Given the description of an element on the screen output the (x, y) to click on. 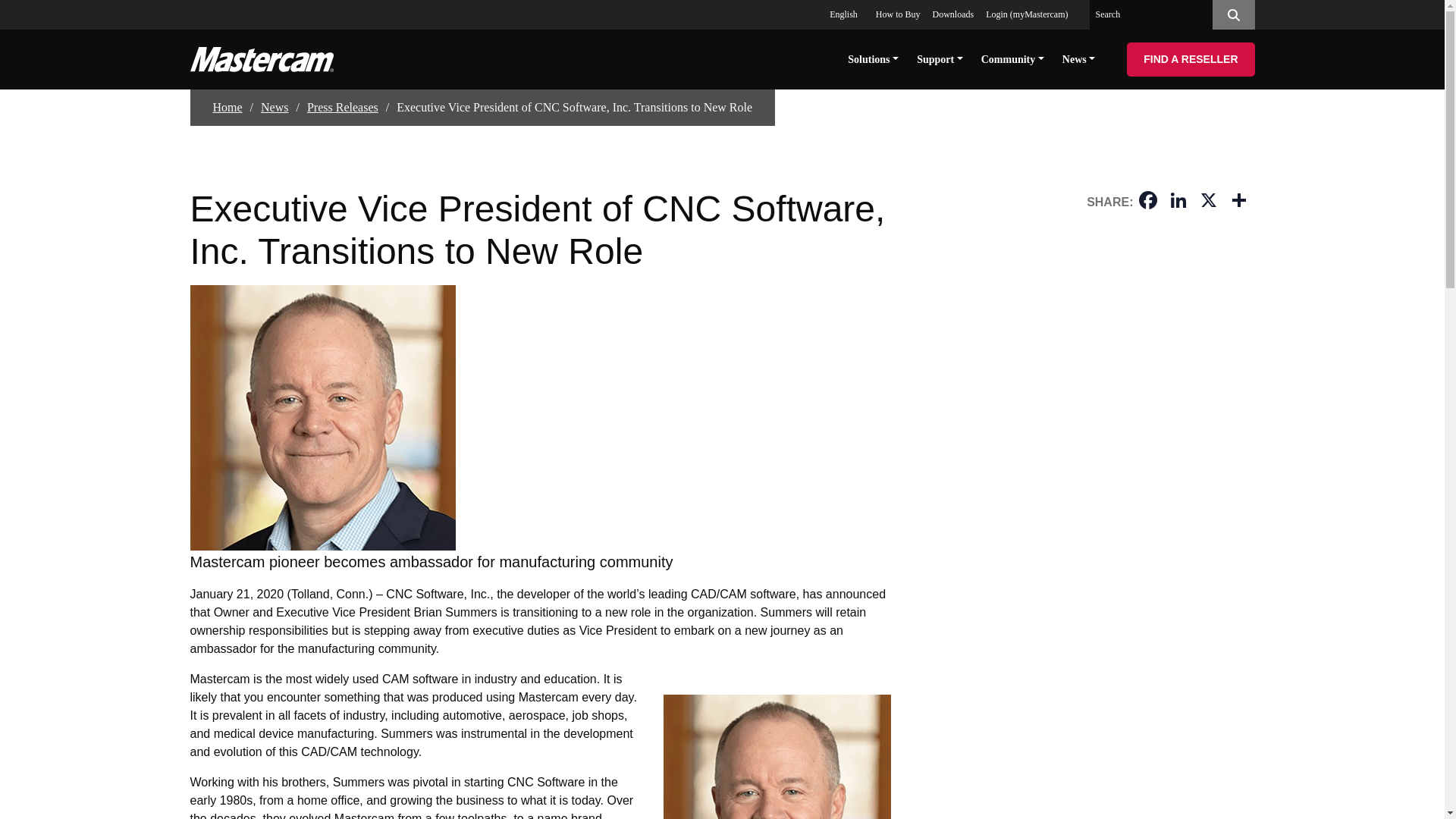
Support (939, 58)
LinkedIn (1178, 202)
English (846, 14)
X (1208, 202)
Solutions (872, 58)
Press Releases (342, 107)
Search (1232, 14)
News (1077, 58)
How to Buy (897, 14)
News (274, 107)
